Given the description of an element on the screen output the (x, y) to click on. 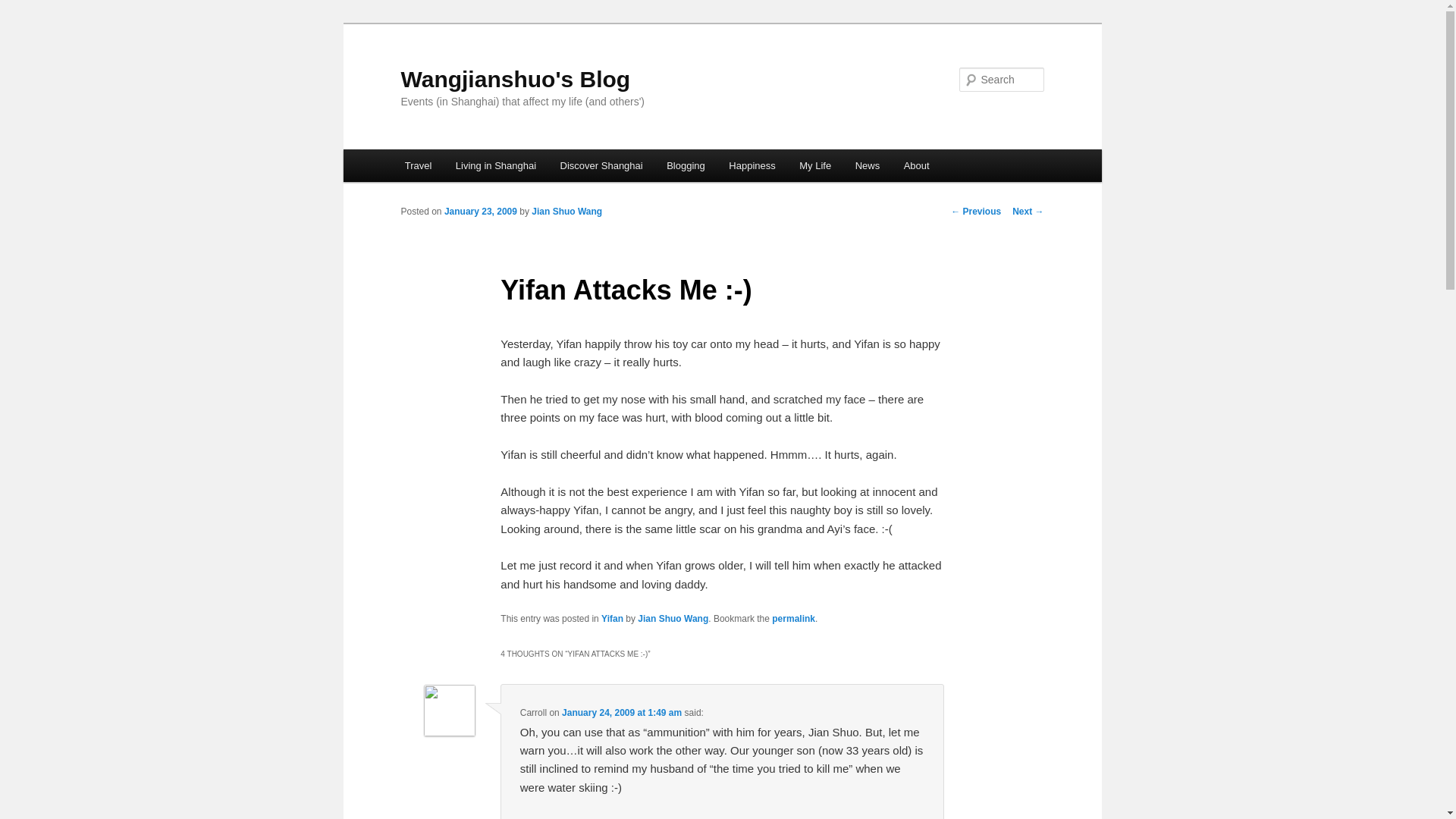
Search (24, 8)
9:19 pm (480, 211)
Travel (418, 165)
Living in Shanghai (496, 165)
Wangjianshuo's Blog (515, 78)
View all posts by Jian Shuo Wang (566, 211)
